Given the description of an element on the screen output the (x, y) to click on. 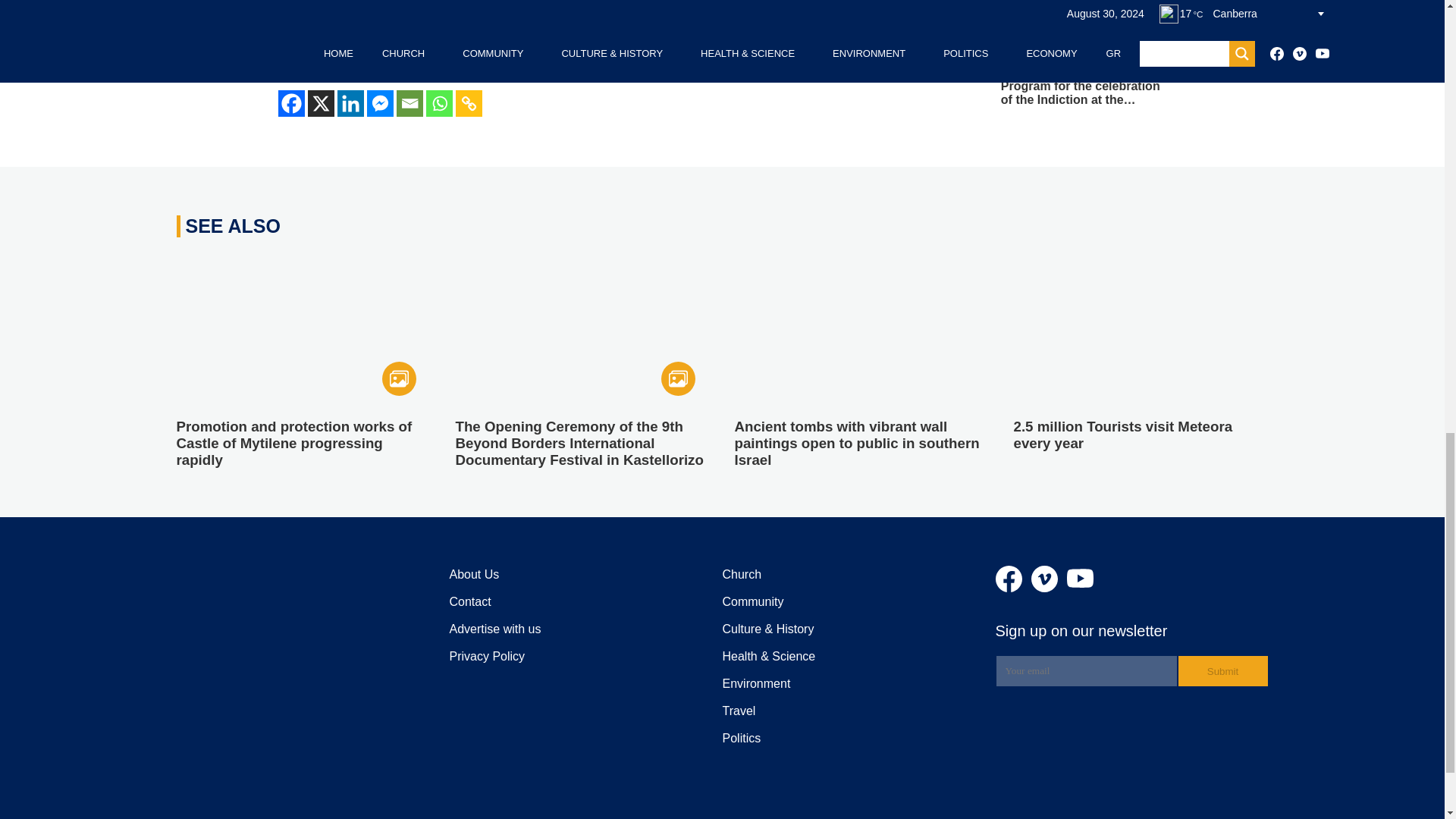
Whatsapp (439, 103)
Facebook (291, 103)
Copy Link (467, 103)
Email (409, 103)
X (320, 103)
Linkedin (349, 103)
